Given the description of an element on the screen output the (x, y) to click on. 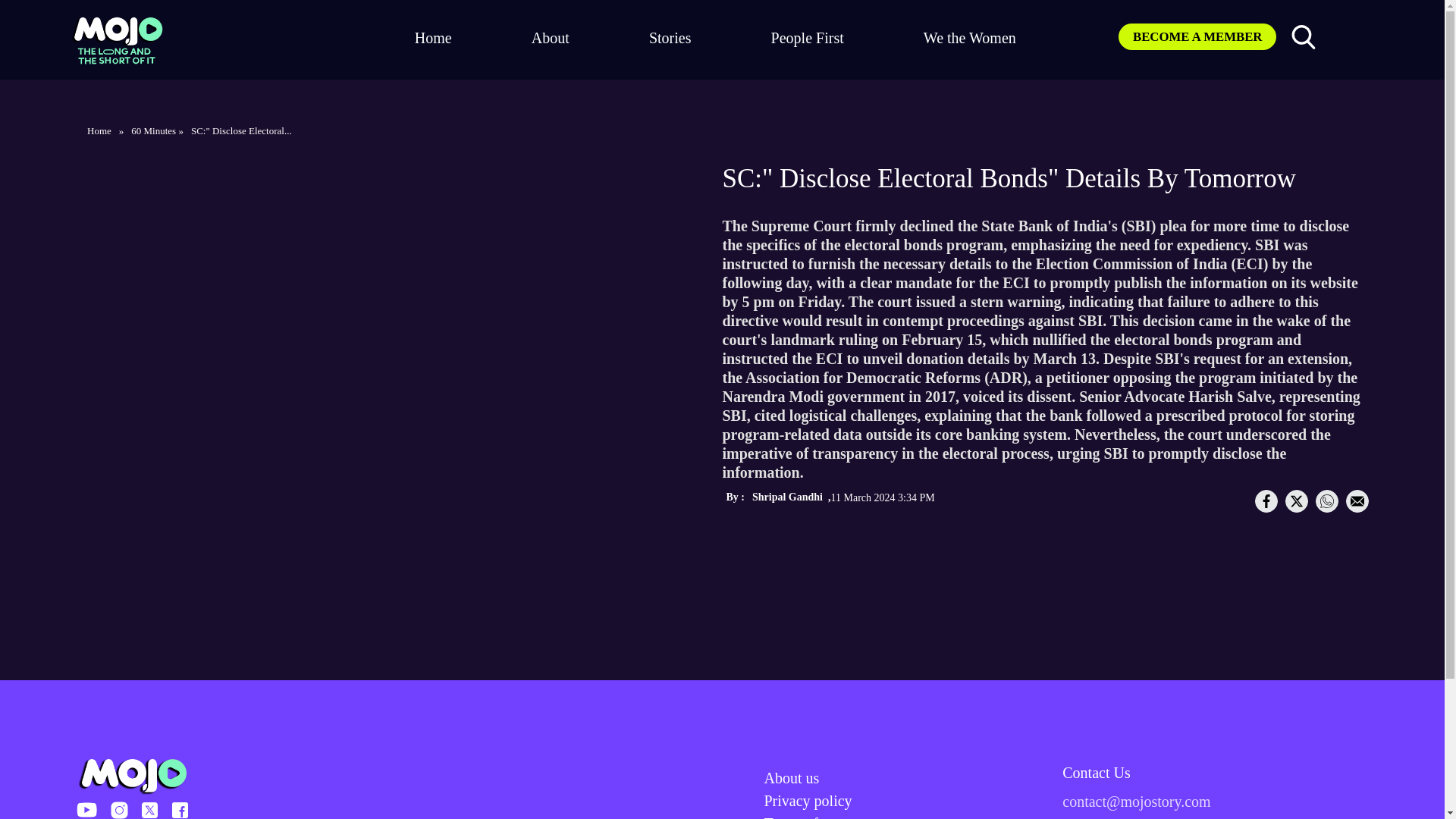
About us (791, 777)
Home (99, 130)
Stories (670, 37)
Share by Email (1356, 500)
Privacy policy (807, 800)
Home (432, 37)
We the Women (969, 37)
BECOME A MEMBER (1197, 36)
Terms of use (803, 816)
People First (807, 37)
Contact Us (1215, 772)
Shripal Gandhi  , (791, 505)
About (550, 37)
mojo (117, 39)
